Given the description of an element on the screen output the (x, y) to click on. 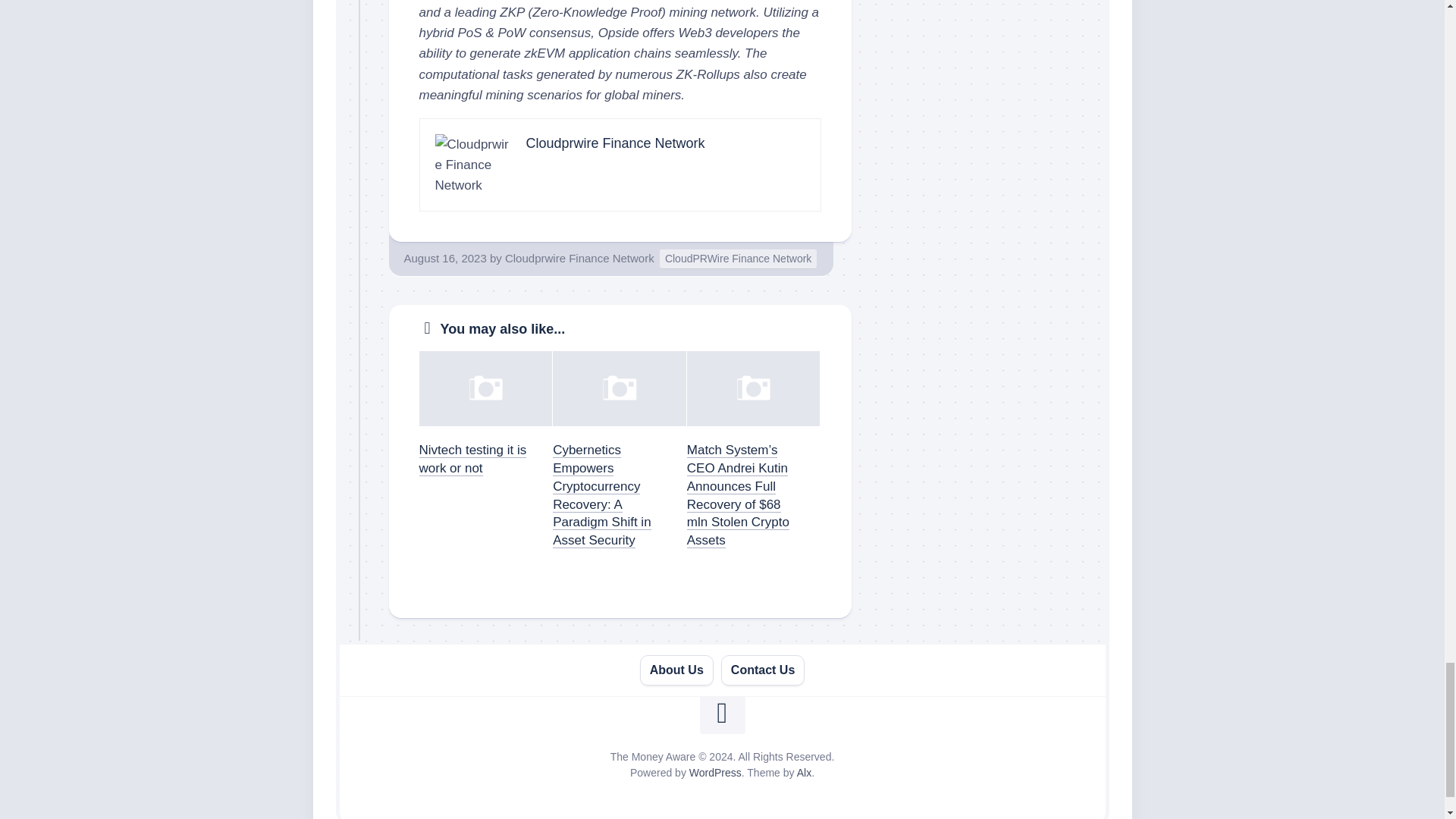
Nivtech testing it is work or not (472, 459)
About Us (676, 669)
Contact Us (762, 669)
Cloudprwire Finance Network (614, 142)
Posts by Cloudprwire Finance Network (579, 257)
CloudPRWire Finance Network (737, 258)
WordPress (714, 772)
Cloudprwire Finance Network (579, 257)
Alx (803, 772)
